Given the description of an element on the screen output the (x, y) to click on. 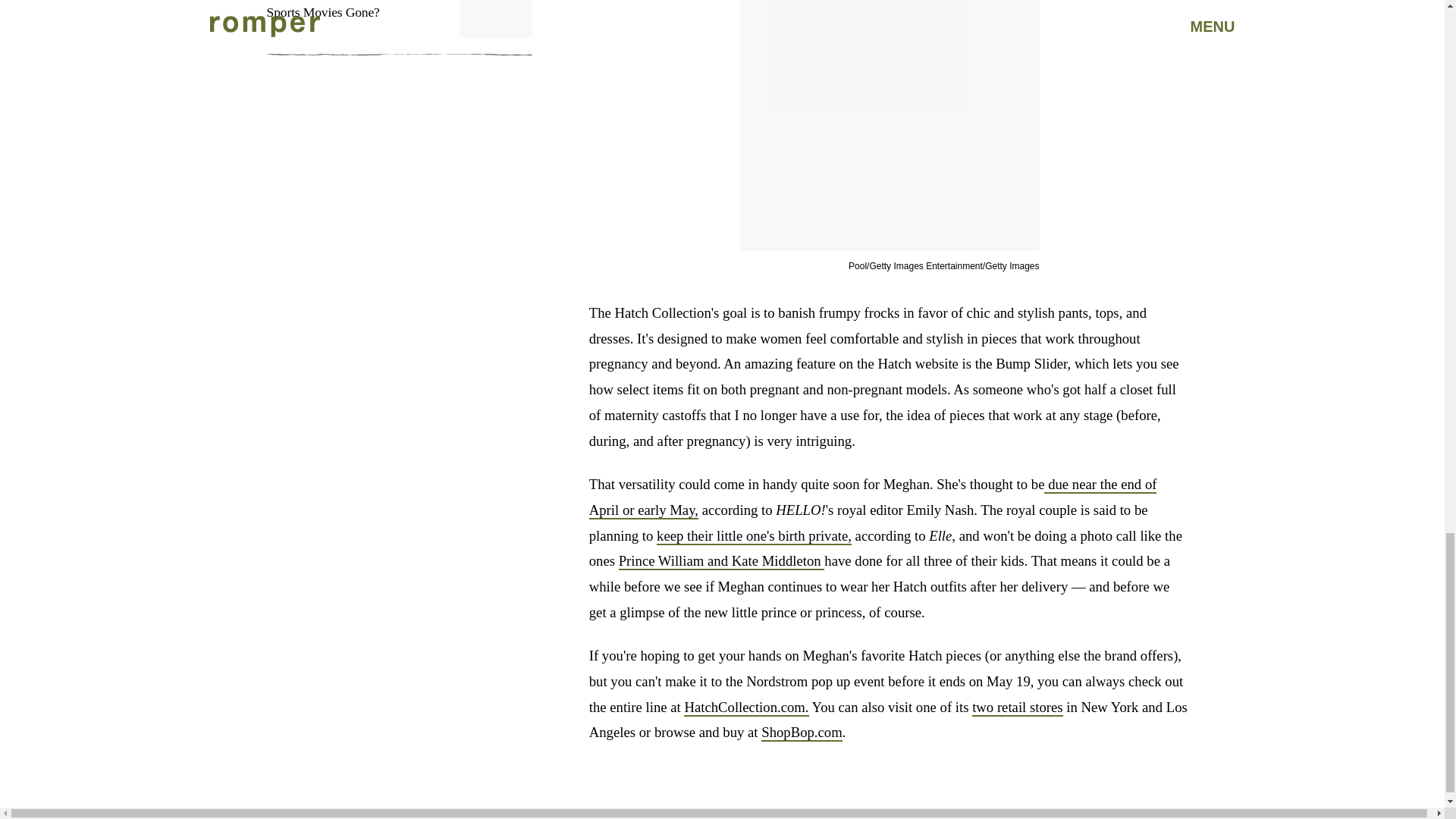
HatchCollection.com. (746, 707)
due near the end of April or early May, (873, 497)
ShopBop.com (802, 732)
two retail stores (1017, 707)
Prince William and Kate Middleton (721, 561)
Where Have All The Great Sports Movies Gone? (399, 28)
keep their little one's birth private, (753, 536)
